Given the description of an element on the screen output the (x, y) to click on. 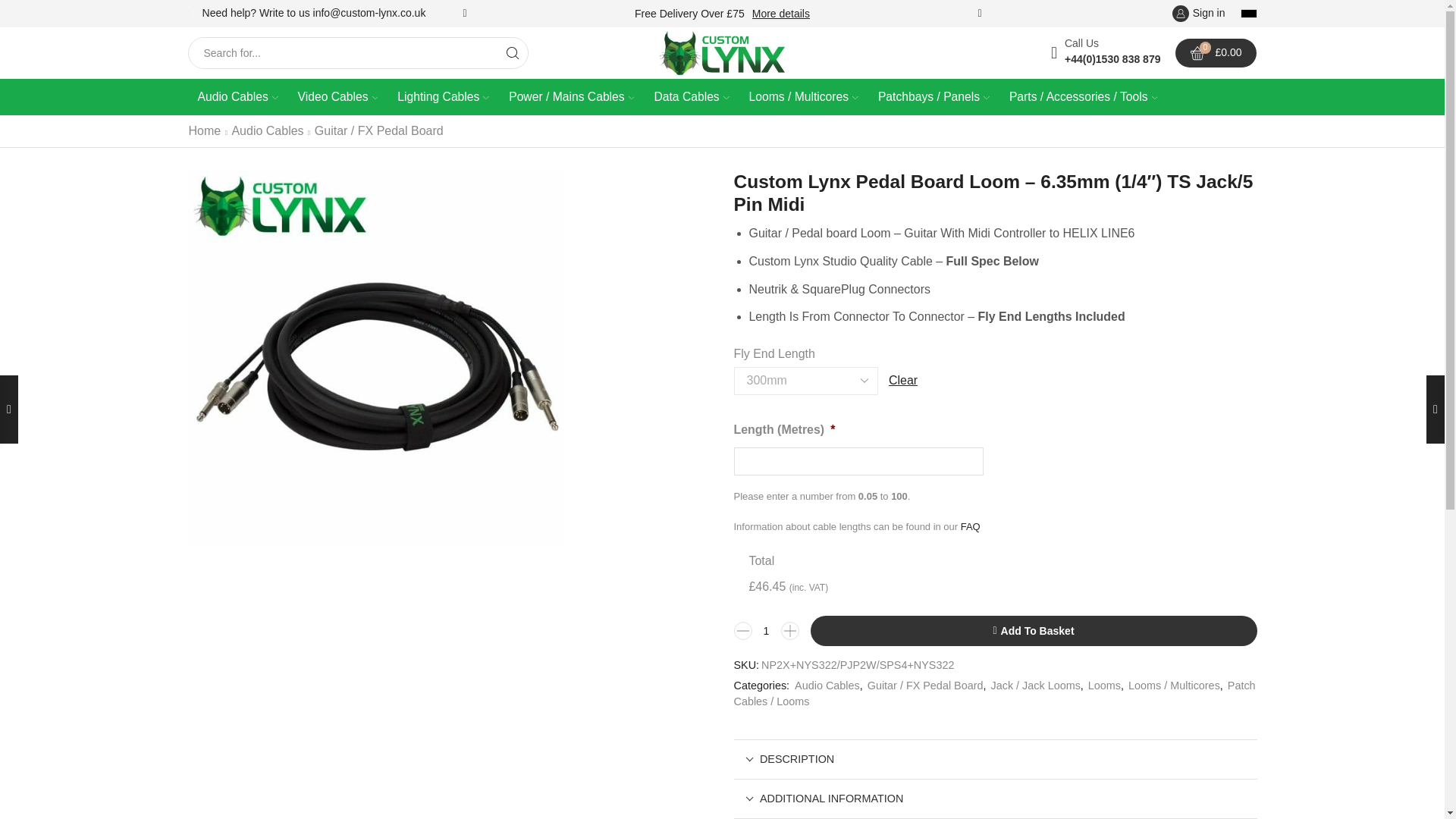
Audio Cables (237, 96)
1 (766, 630)
Sign in (1198, 13)
More details (780, 13)
